Given the description of an element on the screen output the (x, y) to click on. 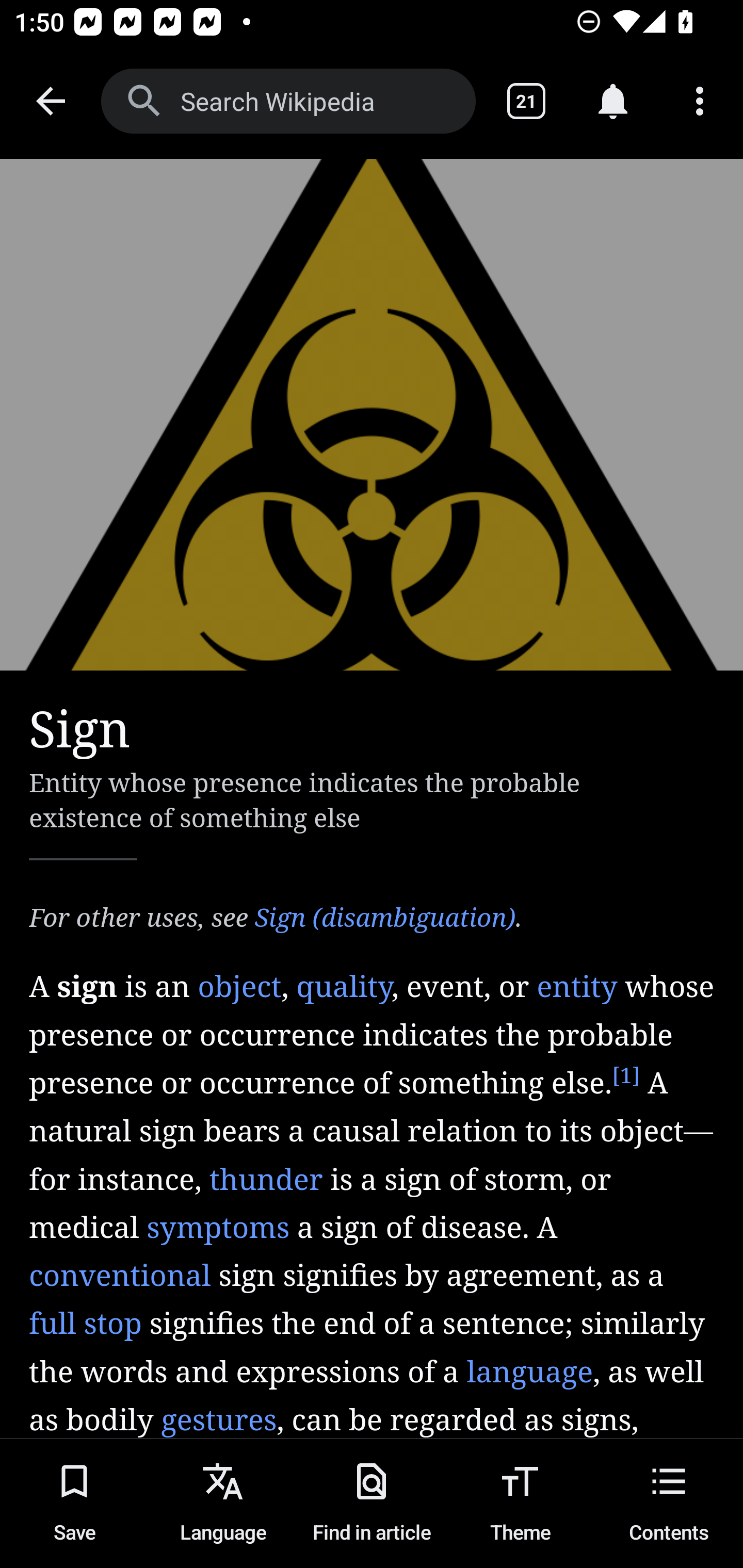
Show tabs 21 (525, 100)
Notifications (612, 100)
Navigate up (50, 101)
More options (699, 101)
Search Wikipedia (288, 100)
Image: Sign (371, 414)
Sign (disambiguation) (384, 918)
object (238, 987)
quality (343, 987)
entity (577, 987)
[] [ 1 ] (625, 1076)
thunder (265, 1179)
symptoms (218, 1226)
conventional (119, 1275)
full stop (85, 1325)
language (529, 1371)
gestures (218, 1419)
Save (74, 1502)
Language (222, 1502)
Find in article (371, 1502)
Theme (519, 1502)
Contents (668, 1502)
